Given the description of an element on the screen output the (x, y) to click on. 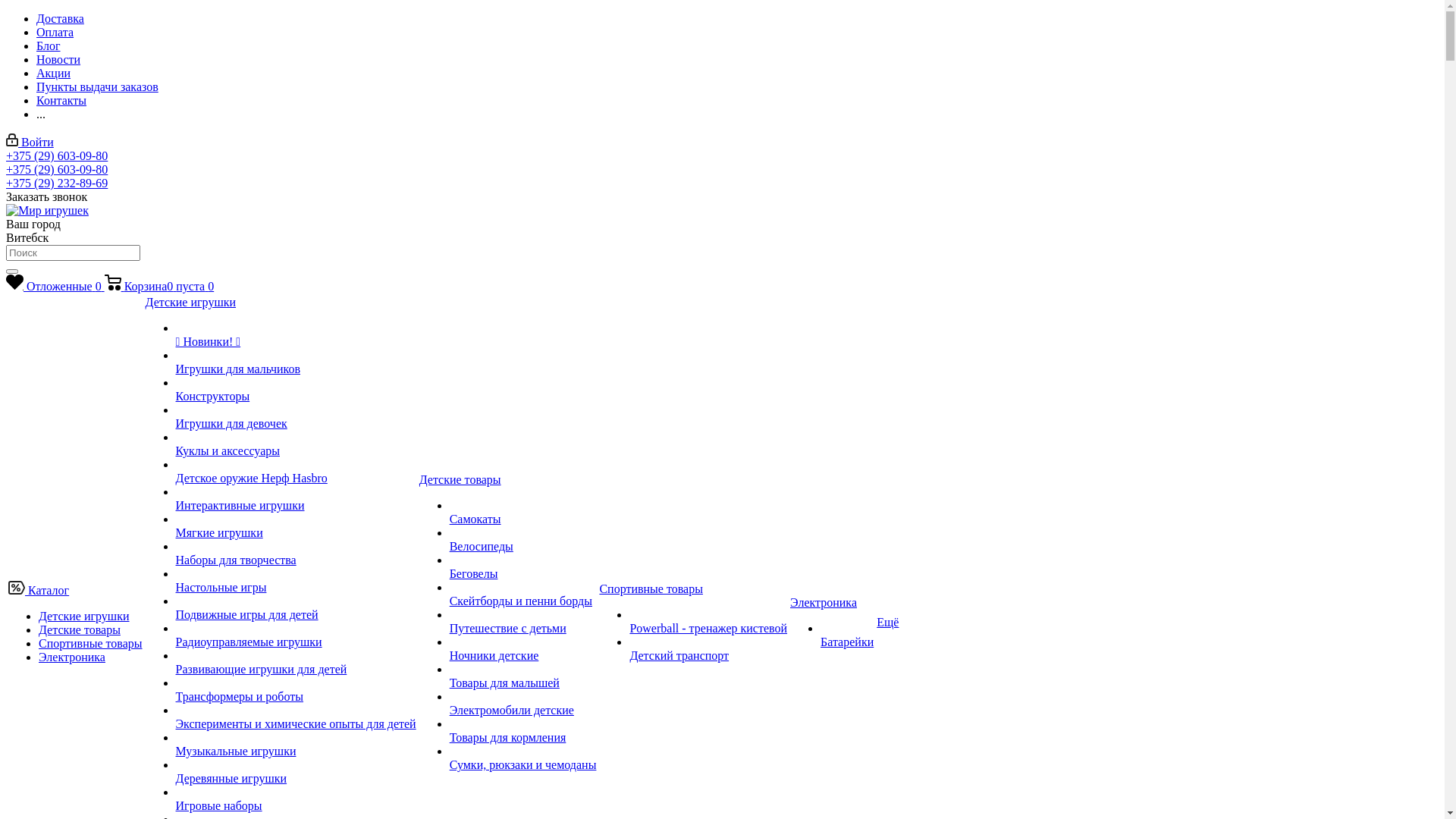
+375 (29) 603-09-80 Element type: text (56, 169)
+375 (29) 603-09-80 Element type: text (56, 155)
+375 (29) 232-89-69 Element type: text (56, 182)
